Given the description of an element on the screen output the (x, y) to click on. 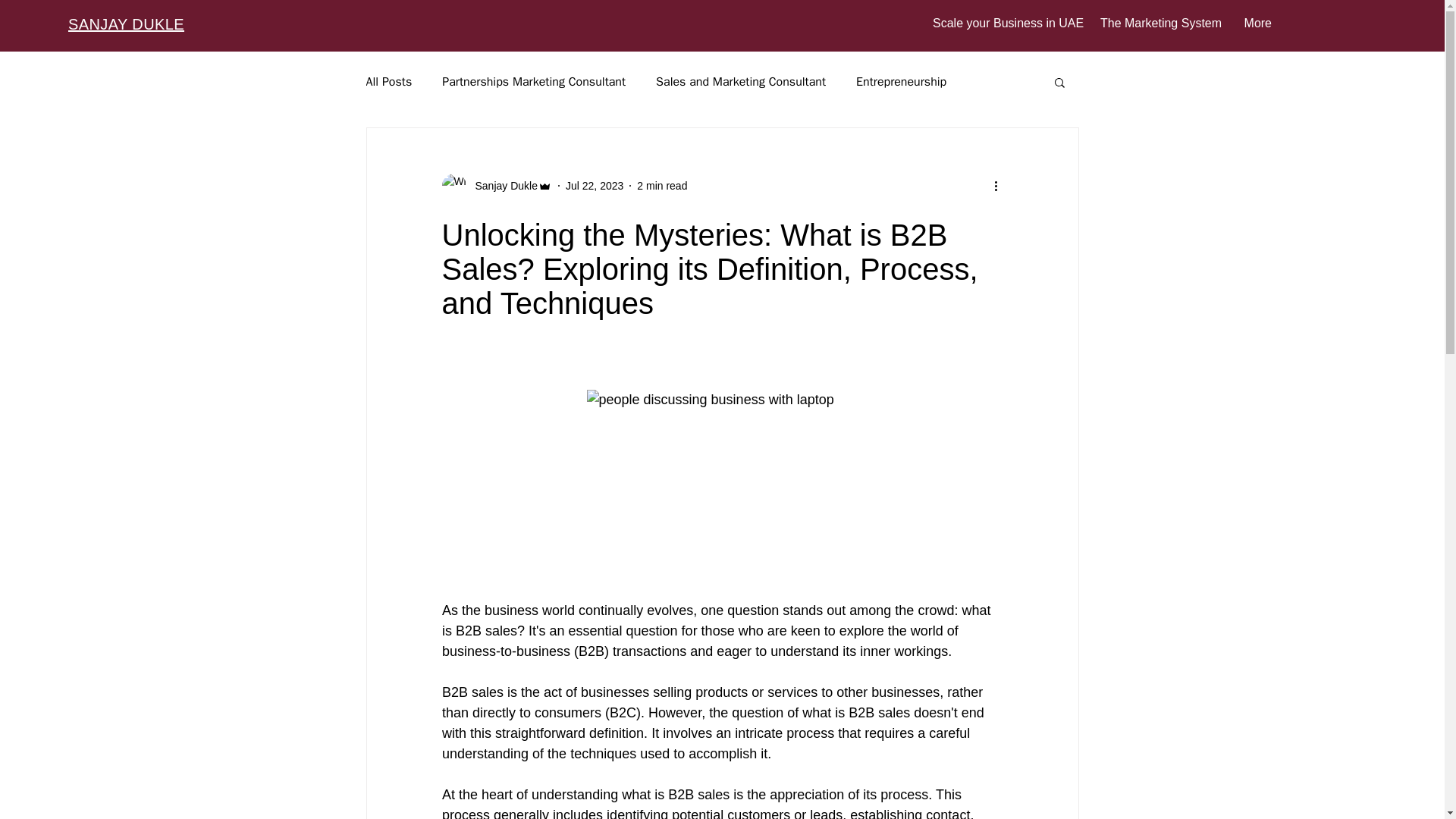
Jul 22, 2023 (594, 184)
Sanjay Dukle (496, 185)
SANJAY DUKLE (126, 23)
Sales and Marketing Consultant (740, 82)
Partnerships Marketing Consultant (534, 82)
The Marketing System (1160, 23)
Sanjay Dukle (501, 185)
All Posts (388, 82)
2 min read (662, 184)
Scale your Business in UAE (1005, 23)
